Given the description of an element on the screen output the (x, y) to click on. 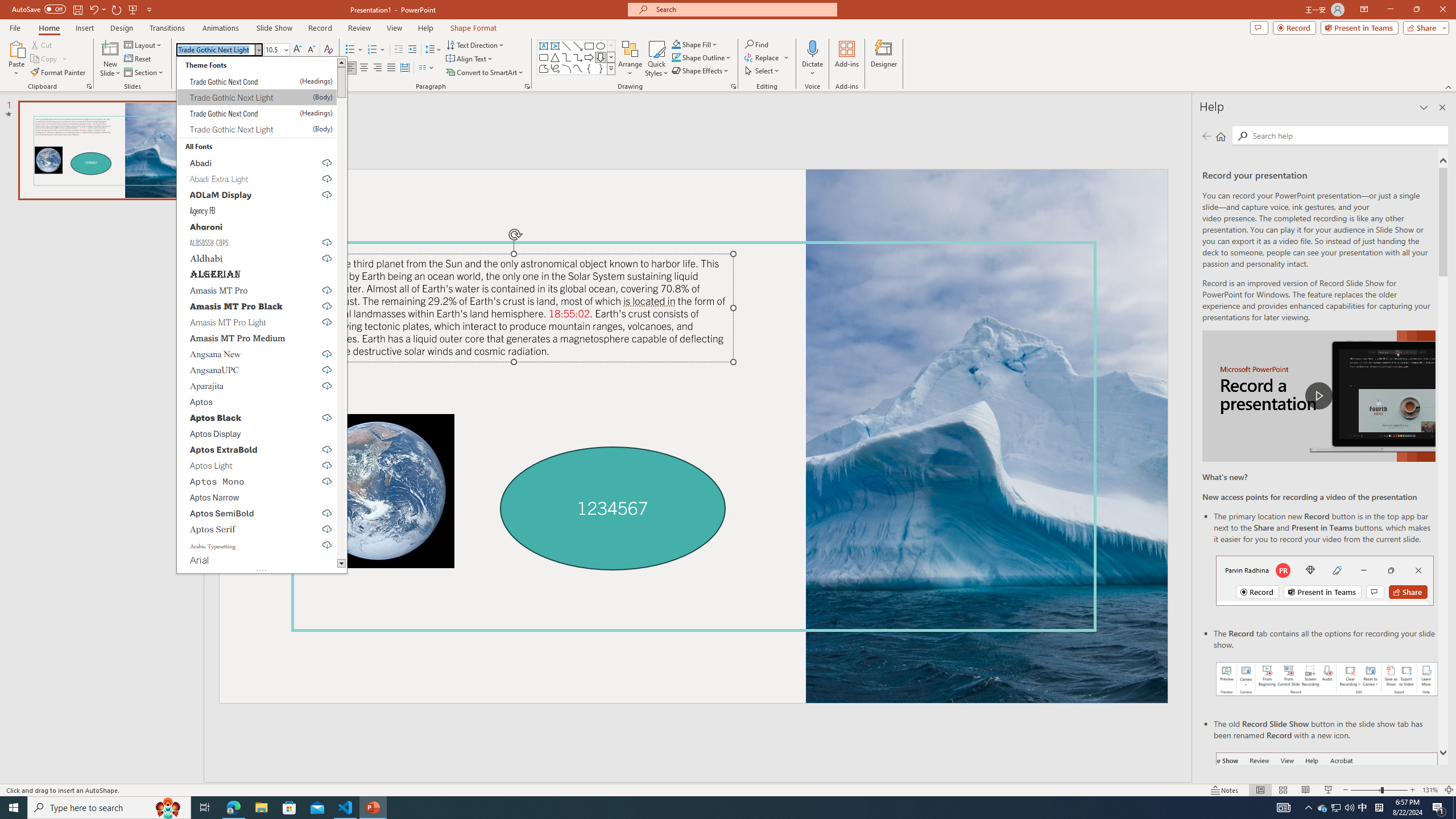
Increase Indent (412, 49)
Open (285, 49)
Arial (256, 560)
Shape Effects (700, 69)
Dictate (812, 48)
Aharoni (256, 226)
Share (1423, 27)
Italic (195, 67)
Arrow: Down (600, 57)
Rectangle (589, 45)
Freeform: Scribble (554, 68)
View (395, 28)
Record button in top bar (1324, 580)
Amasis MT Pro, select to download (256, 289)
